Given the description of an element on the screen output the (x, y) to click on. 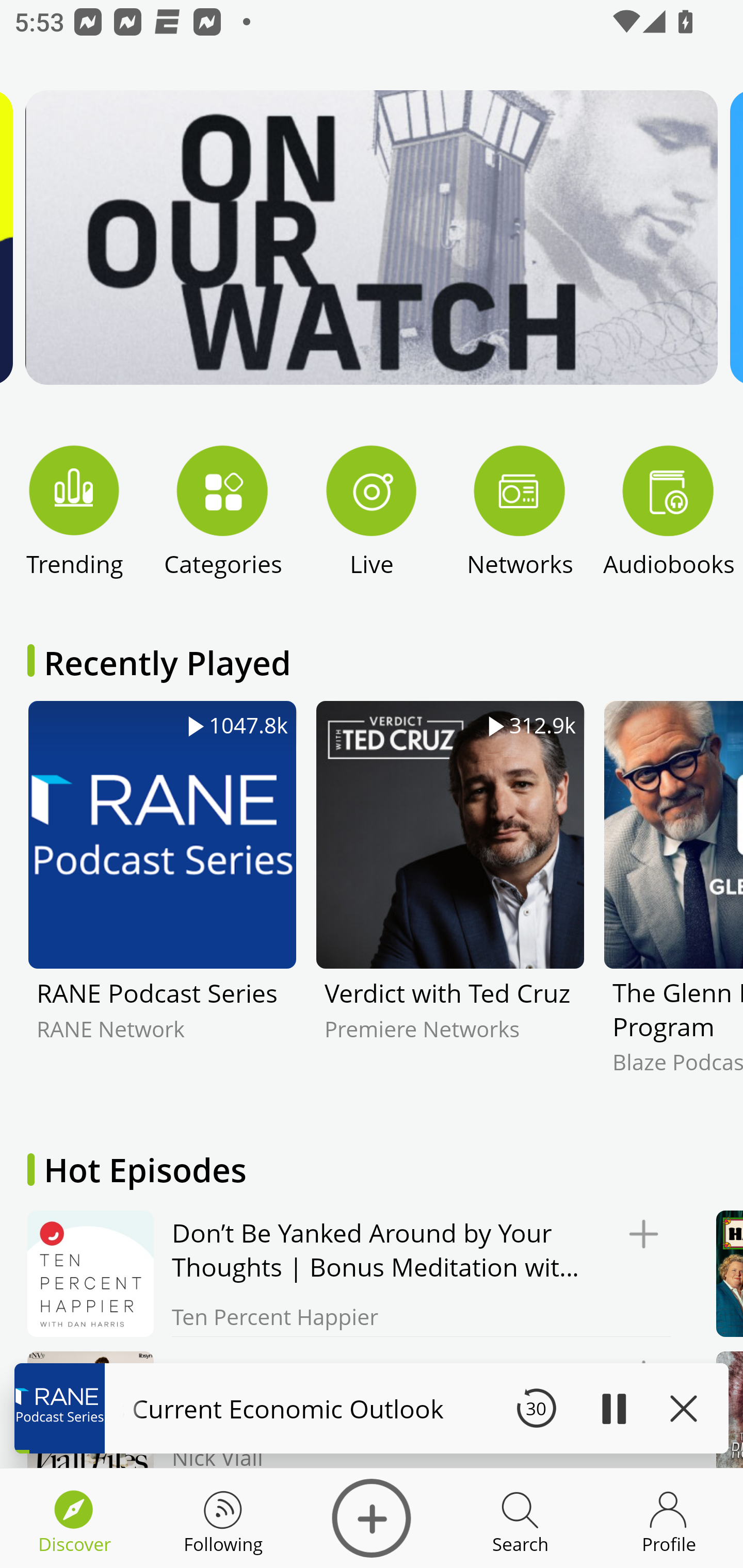
1047.8k RANE Podcast Series RANE Network (162, 902)
312.9k Verdict with Ted Cruz Premiere Networks (450, 902)
The Glenn Beck Program Blaze Podcast Network (673, 902)
Play (613, 1407)
30 Seek Backward (536, 1407)
Discover Following (222, 1518)
Discover (371, 1518)
Discover Search (519, 1518)
Discover Profile (668, 1518)
